Given the description of an element on the screen output the (x, y) to click on. 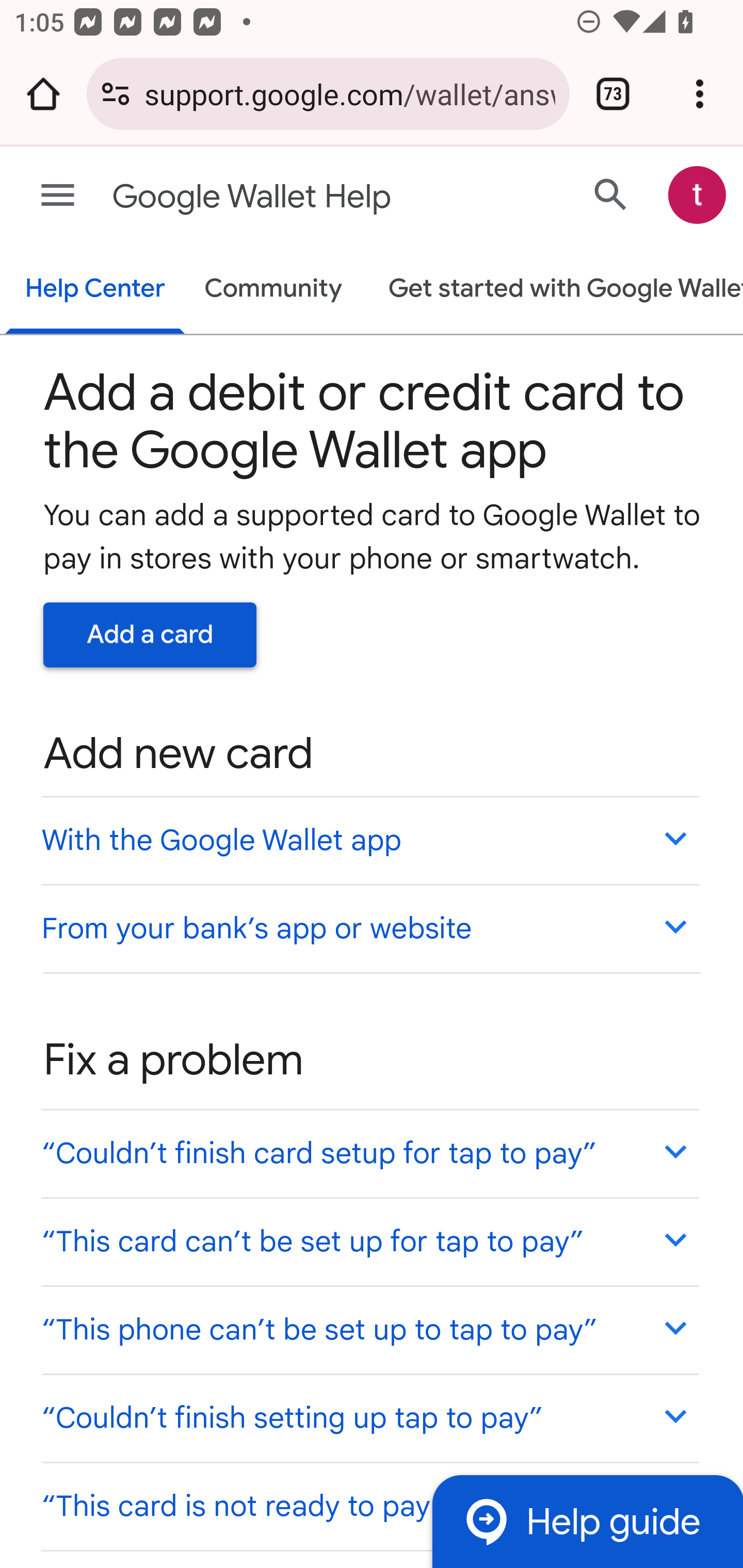
Open the home page (43, 93)
Connection is secure (115, 93)
Switch or close tabs (612, 93)
Customize and control Google Chrome (699, 93)
Main menu (58, 195)
Google Wallet Help (292, 197)
Search Help Center (611, 194)
Help Center (94, 289)
Community (273, 289)
Get started with Google Wallet (555, 289)
Add a card (150, 633)
With the Google Wallet app (369, 839)
From your bank’s app or website (369, 927)
“Couldn’t finish card setup for tap to pay” (369, 1152)
“This card can’t be set up for tap to pay” (369, 1240)
“This phone can’t be set up to tap to pay” (369, 1329)
“Couldn’t finish setting up tap to pay” (369, 1417)
“This card is not ready to pay online” (369, 1504)
Help guide (587, 1520)
